Given the description of an element on the screen output the (x, y) to click on. 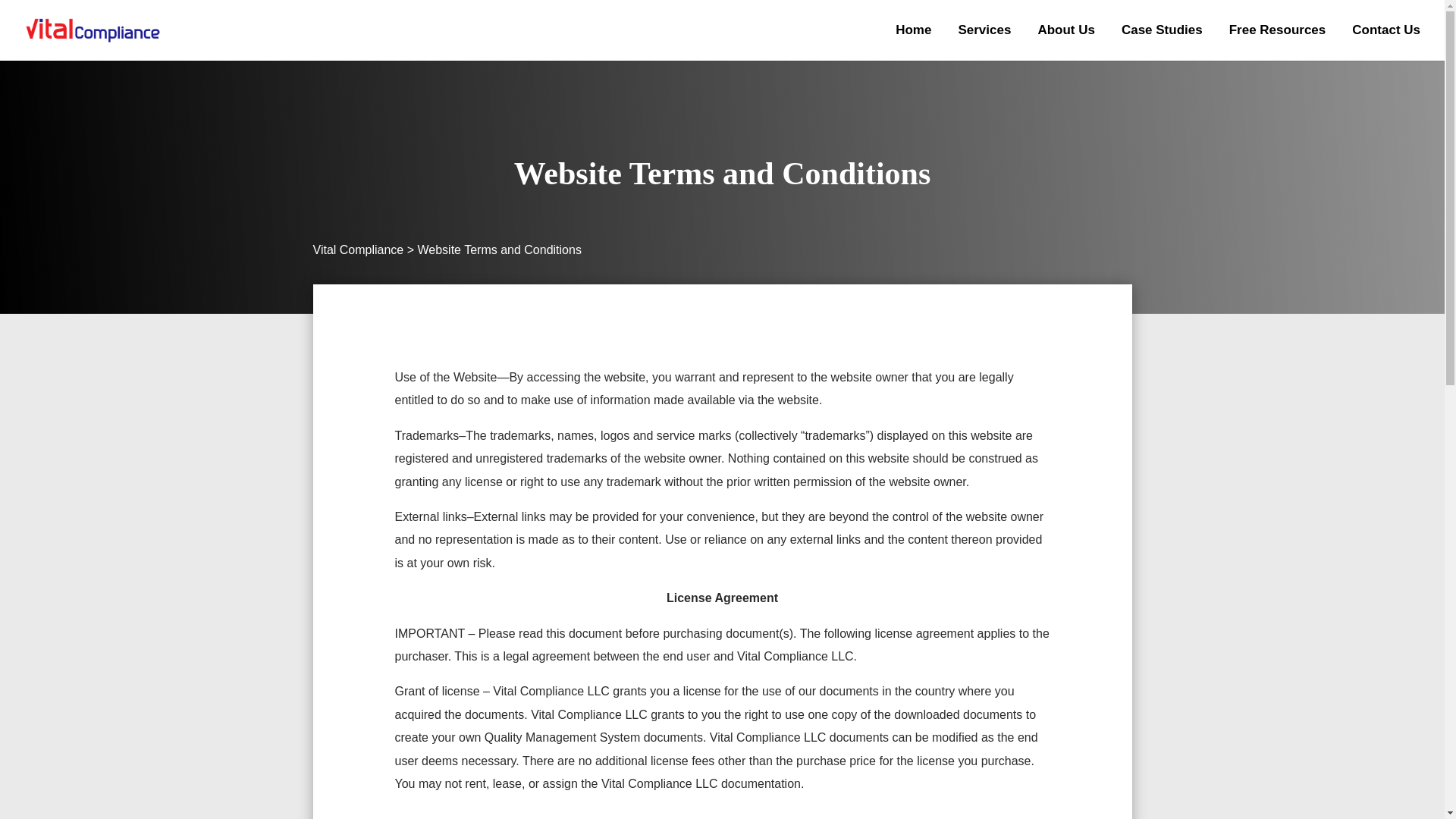
Contact Us (1386, 42)
Home (913, 42)
Free Resources (1277, 42)
About Us (1065, 42)
Case Studies (1161, 42)
Services (984, 42)
Vital Compliance (358, 249)
